Given the description of an element on the screen output the (x, y) to click on. 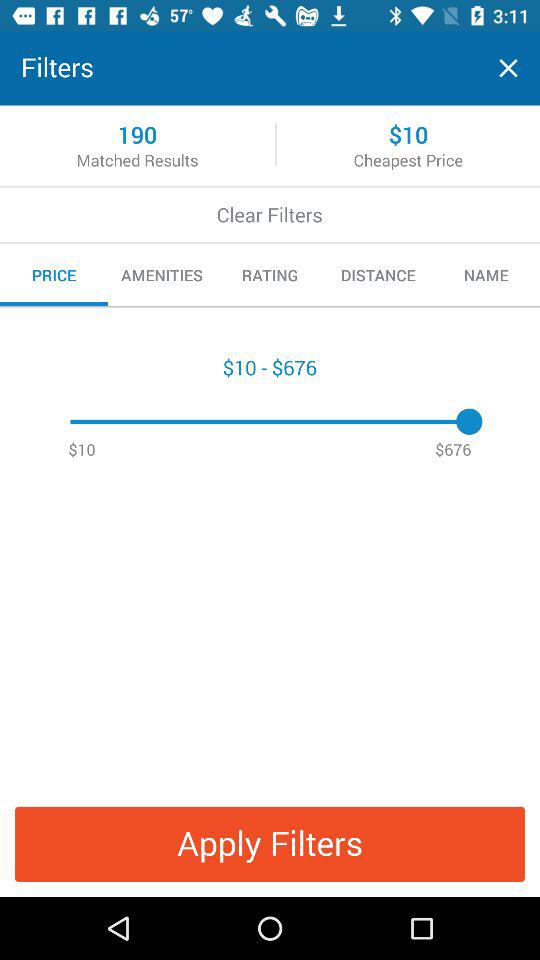
turn off icon to the left of name icon (378, 275)
